Given the description of an element on the screen output the (x, y) to click on. 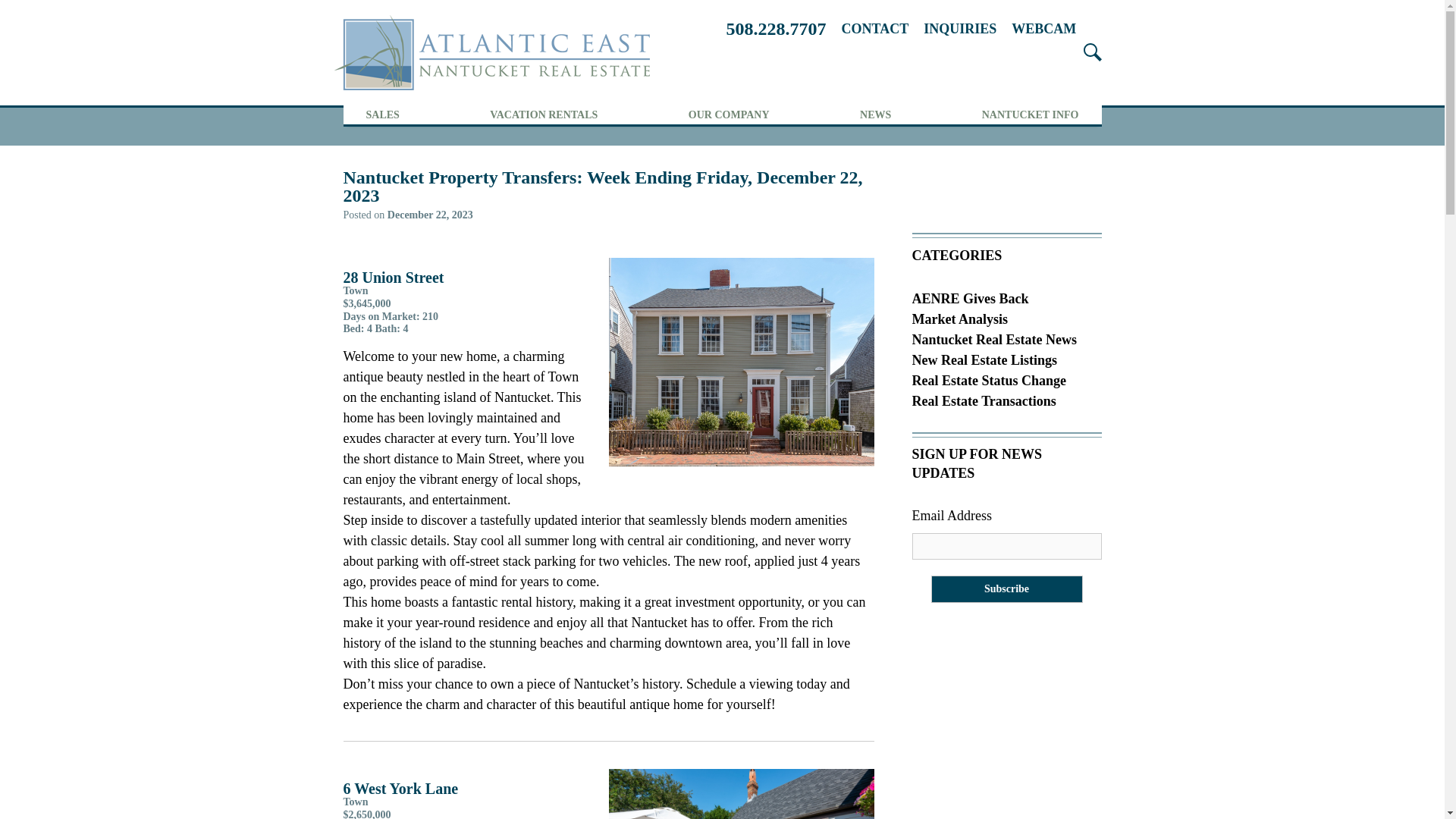
28 Union Street (740, 361)
508.228.7707 (776, 28)
NANTUCKET INFO (1029, 114)
CONTACT (874, 28)
INQUIRIES (959, 28)
OUR COMPANY (729, 114)
NEWS (875, 114)
VACATION RENTALS (542, 114)
6 West York Lane (740, 794)
SALES (381, 114)
WEBCAM (1043, 28)
Subscribe (1007, 588)
